Given the description of an element on the screen output the (x, y) to click on. 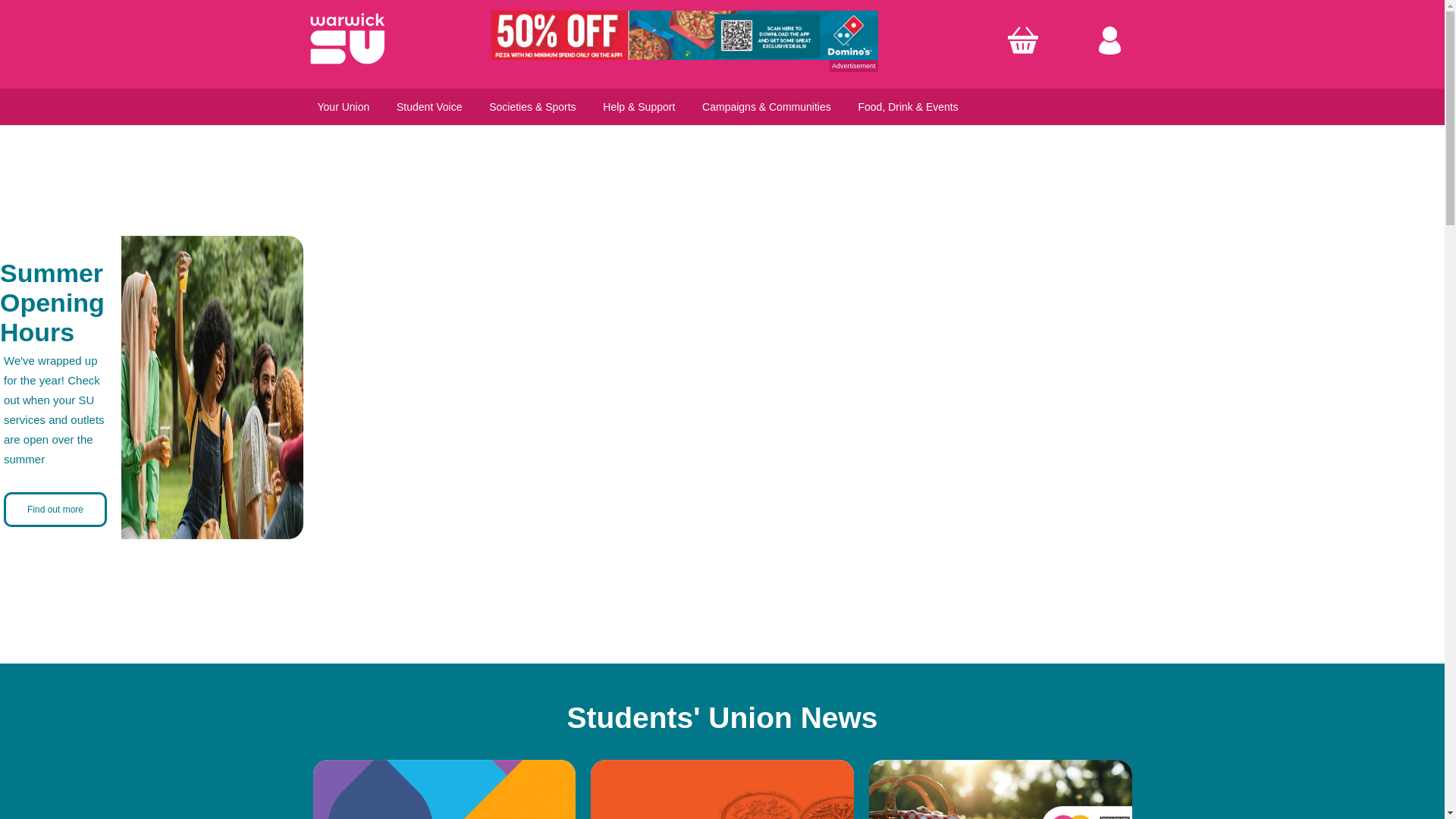
Cost of Living Survey (722, 789)
Search (1068, 27)
Student Voice (428, 106)
Your Union (343, 106)
Summer Opening Hours (52, 302)
Lay Trustees needed (444, 789)
PG Connections: Picnic (1000, 789)
